Given the description of an element on the screen output the (x, y) to click on. 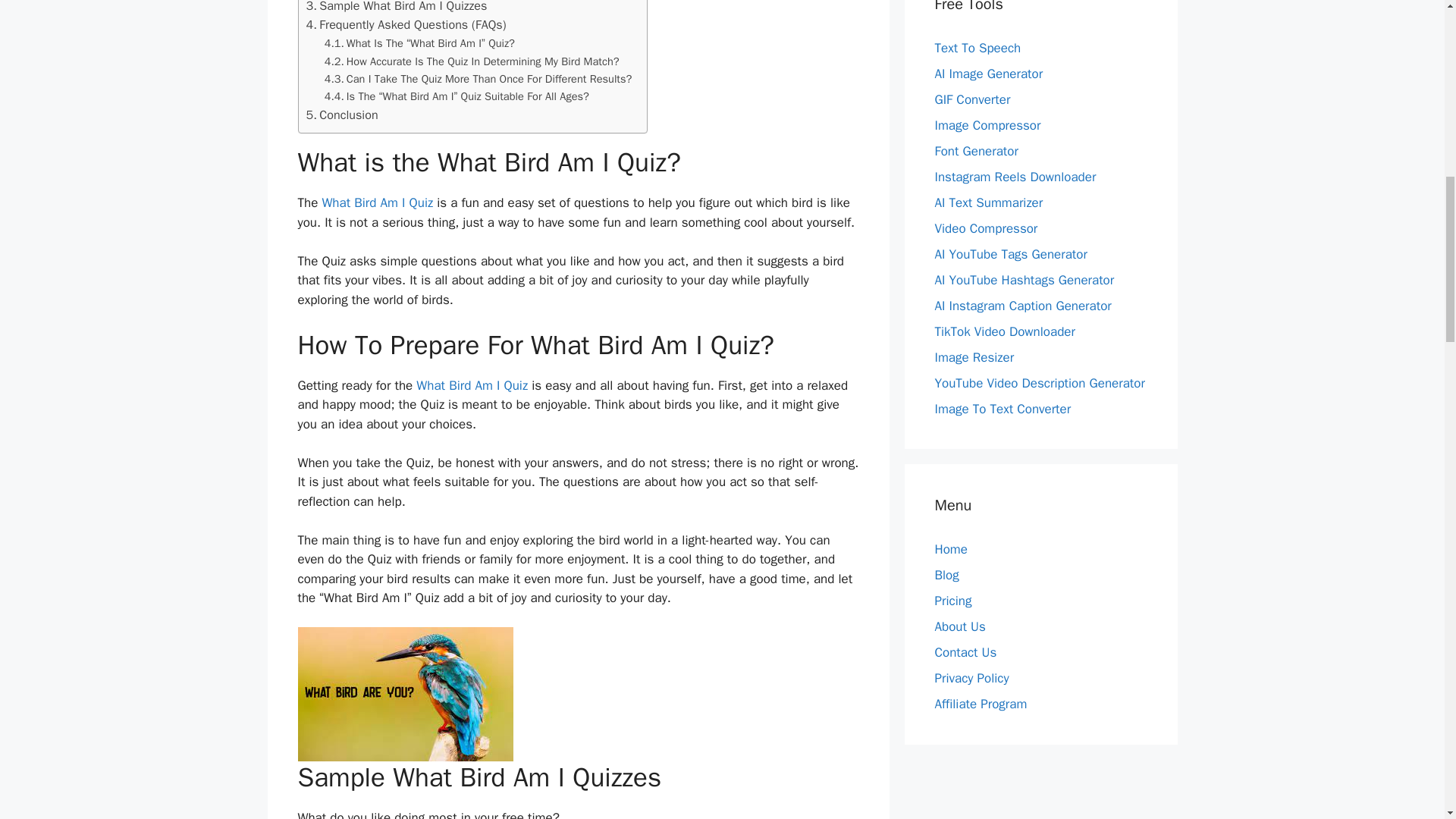
Conclusion (341, 115)
Sample What Bird Am I Quizzes (396, 7)
How Accurate Is The Quiz In Determining My Bird Match? (472, 61)
How Accurate Is The Quiz In Determining My Bird Match? (472, 61)
Conclusion (341, 115)
Sample What Bird Am I Quizzes (396, 7)
Can I Take The Quiz More Than Once For Different Results? (477, 78)
What Bird Am I Quiz (471, 385)
Can I Take The Quiz More Than Once For Different Results? (477, 78)
What Bird Am I Quiz (376, 202)
